Given the description of an element on the screen output the (x, y) to click on. 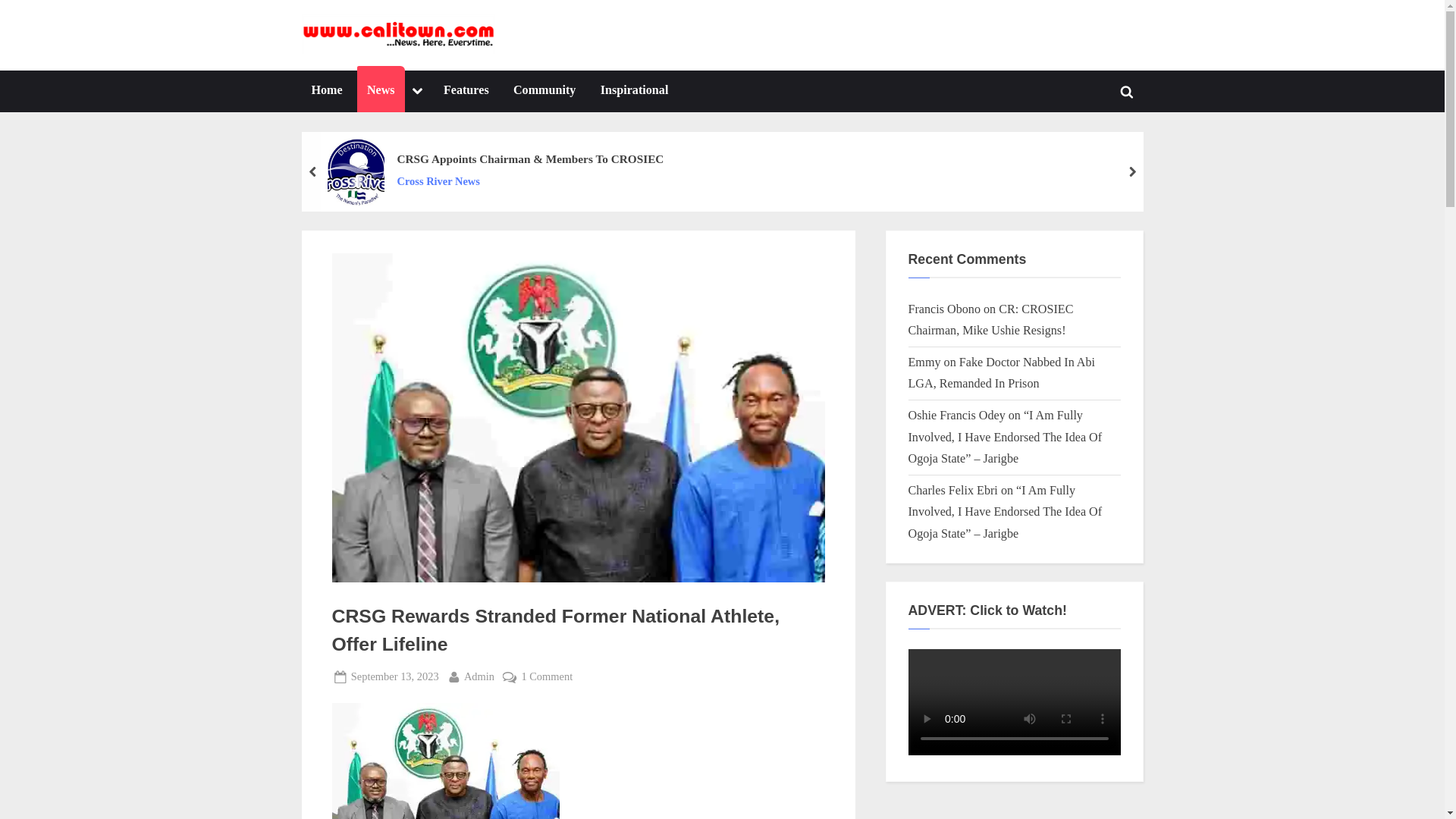
Home (394, 676)
Inspirational (326, 91)
calitown (634, 91)
News (530, 46)
Toggle search form (380, 91)
Cross River News (1126, 91)
Toggle sub-menu (529, 180)
Community (417, 91)
Features (544, 91)
